Given the description of an element on the screen output the (x, y) to click on. 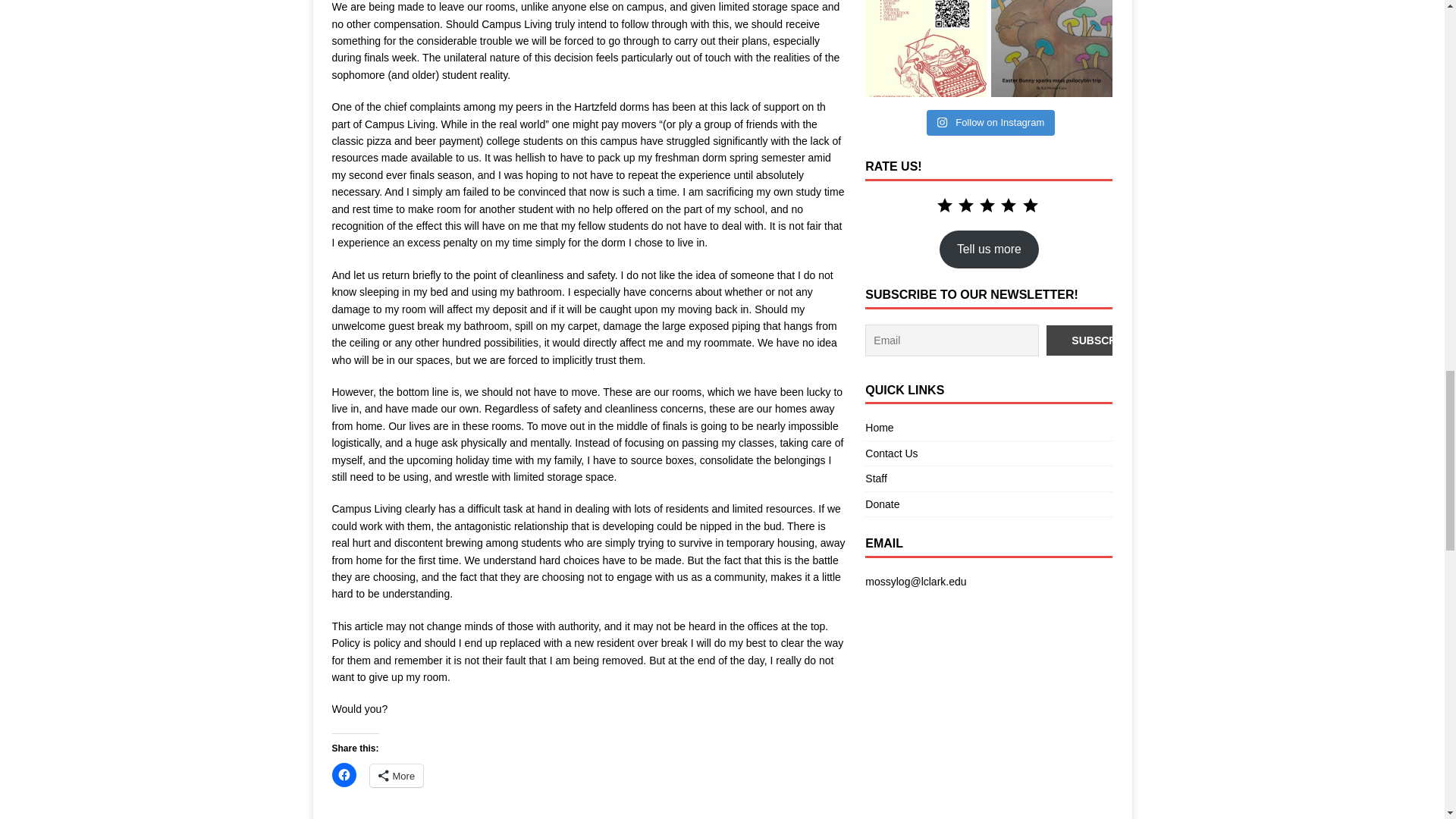
More (396, 775)
Subscribe (1103, 340)
Click to share on Facebook (343, 774)
